Given the description of an element on the screen output the (x, y) to click on. 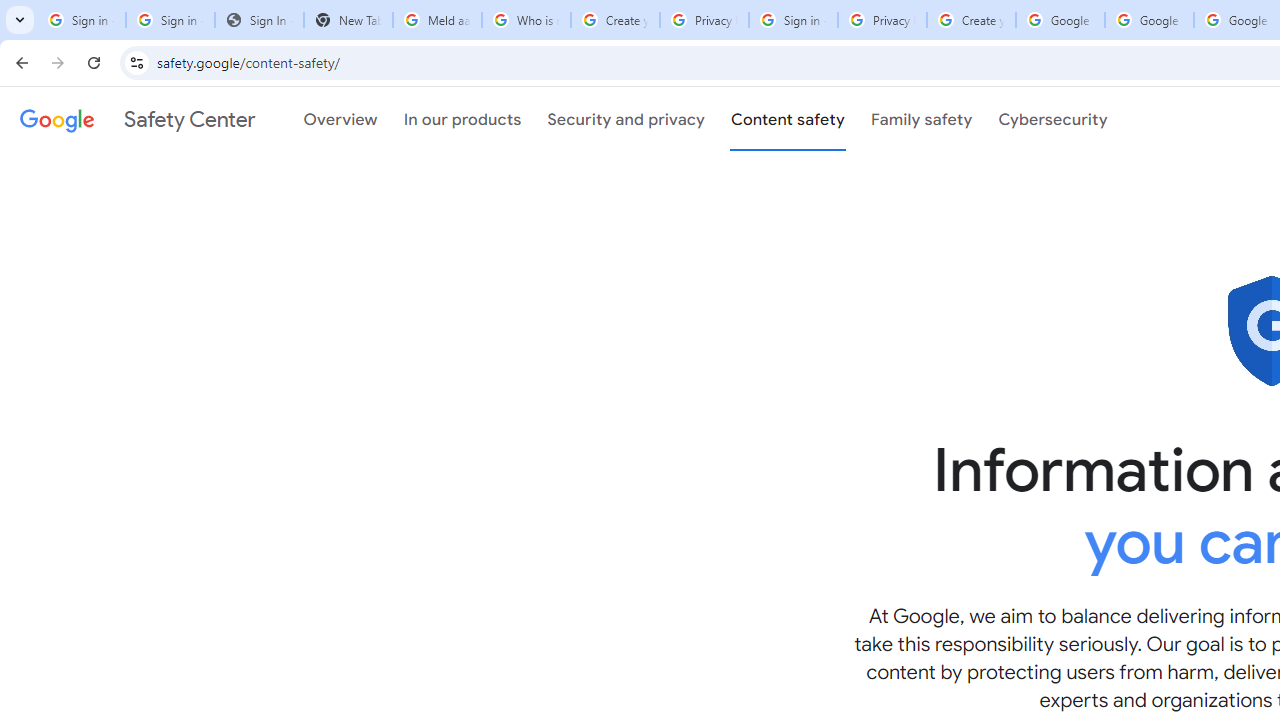
Family safety (921, 119)
Who is my administrator? - Google Account Help (526, 20)
In our products (462, 119)
Sign in - Google Accounts (170, 20)
